Given the description of an element on the screen output the (x, y) to click on. 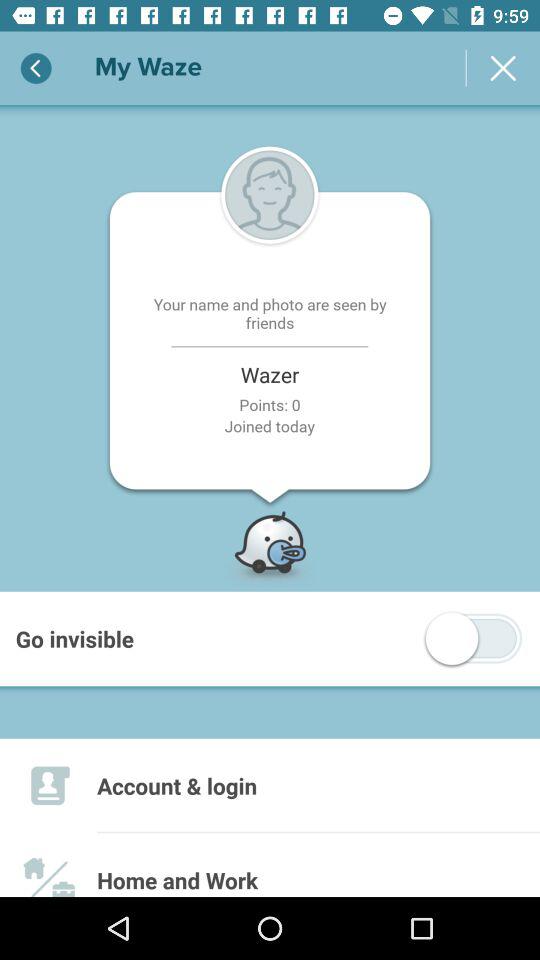
go back (36, 67)
